Given the description of an element on the screen output the (x, y) to click on. 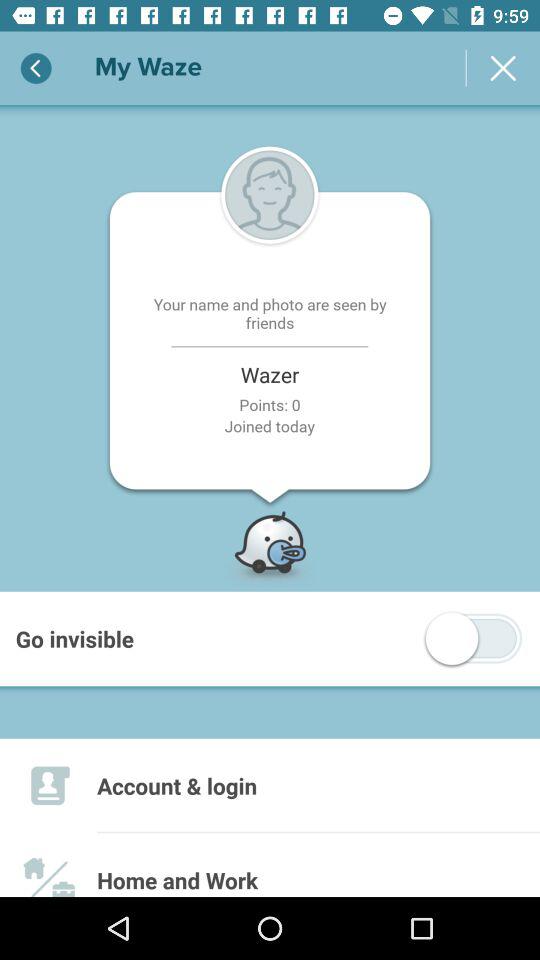
go back (36, 67)
